Given the description of an element on the screen output the (x, y) to click on. 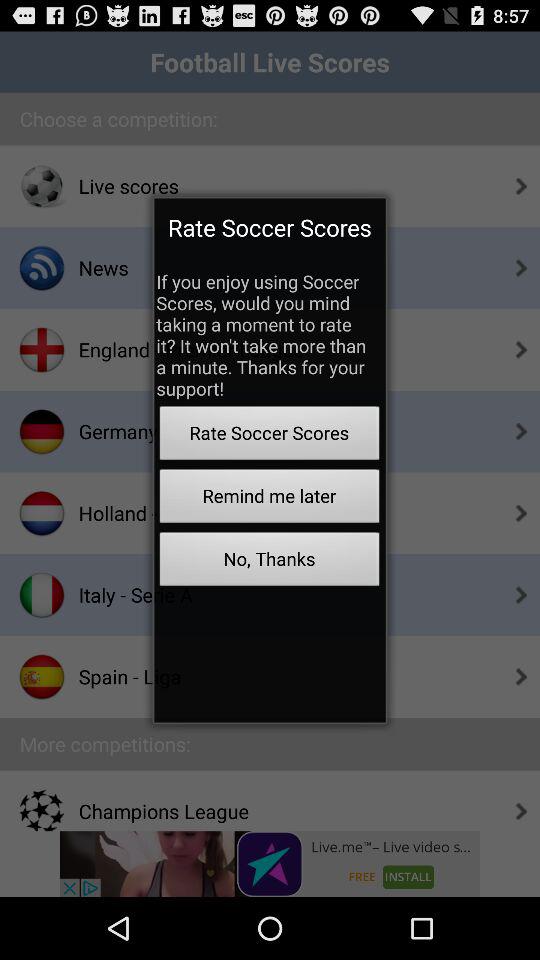
press icon above the no, thanks item (269, 498)
